Given the description of an element on the screen output the (x, y) to click on. 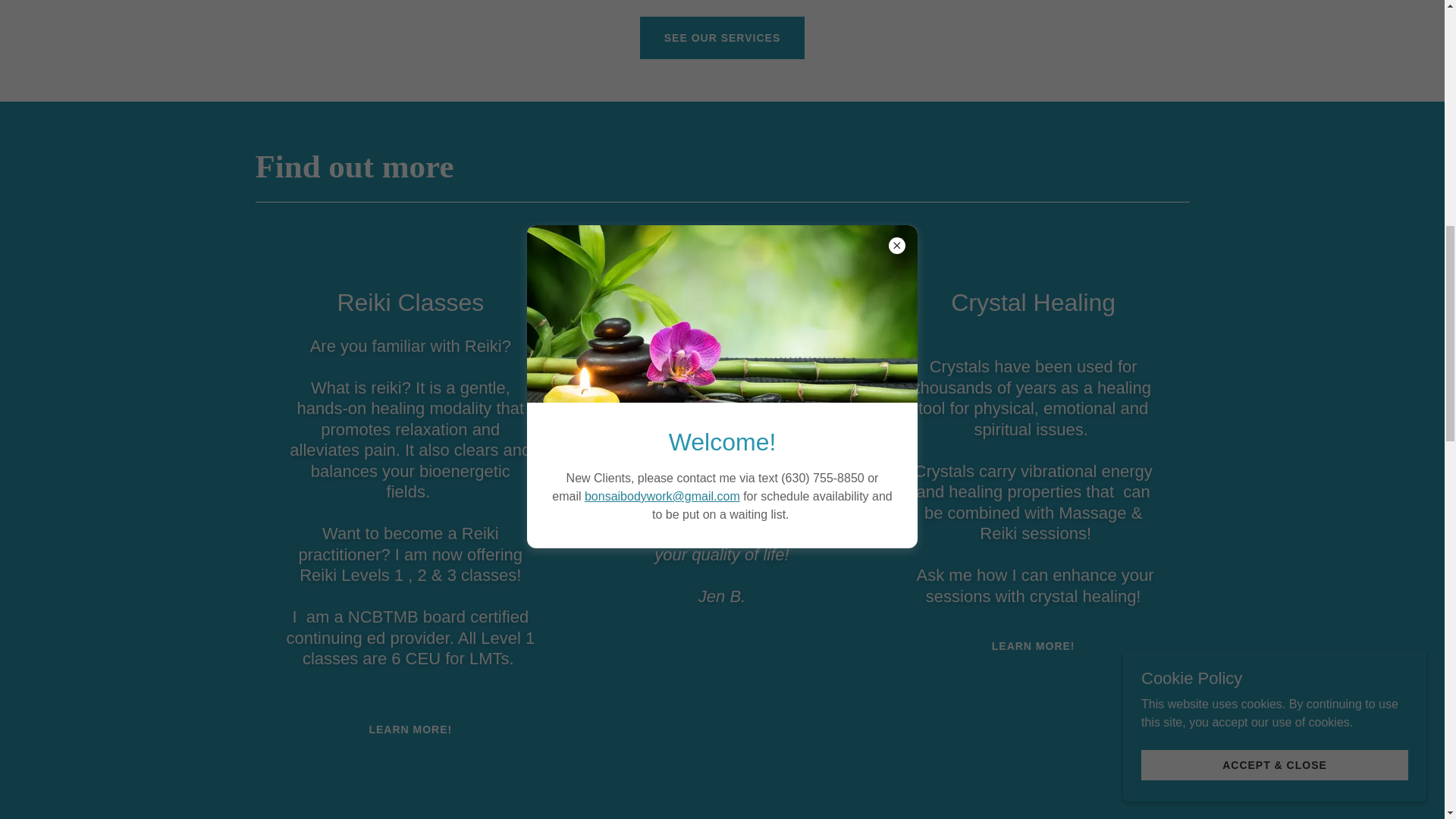
LEARN MORE! (409, 729)
LEARN MORE! (1033, 645)
SEE OUR SERVICES (722, 37)
